Given the description of an element on the screen output the (x, y) to click on. 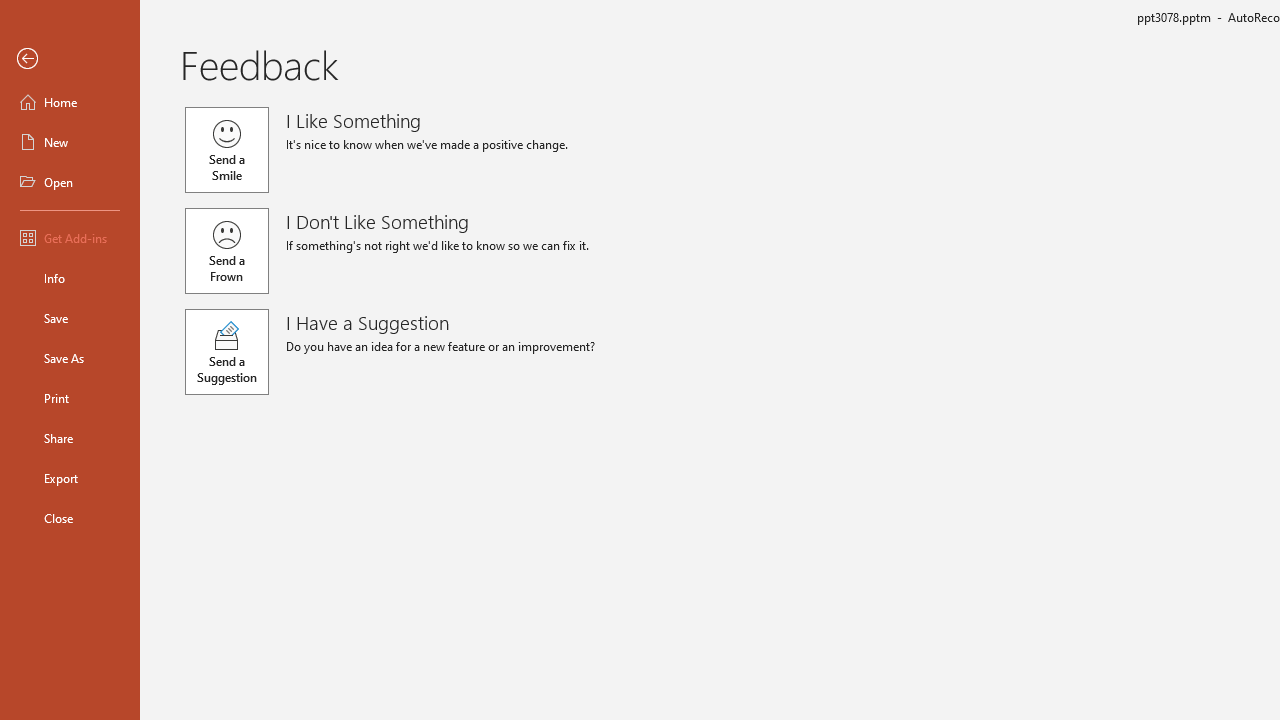
Info (69, 277)
Back (69, 59)
